Given the description of an element on the screen output the (x, y) to click on. 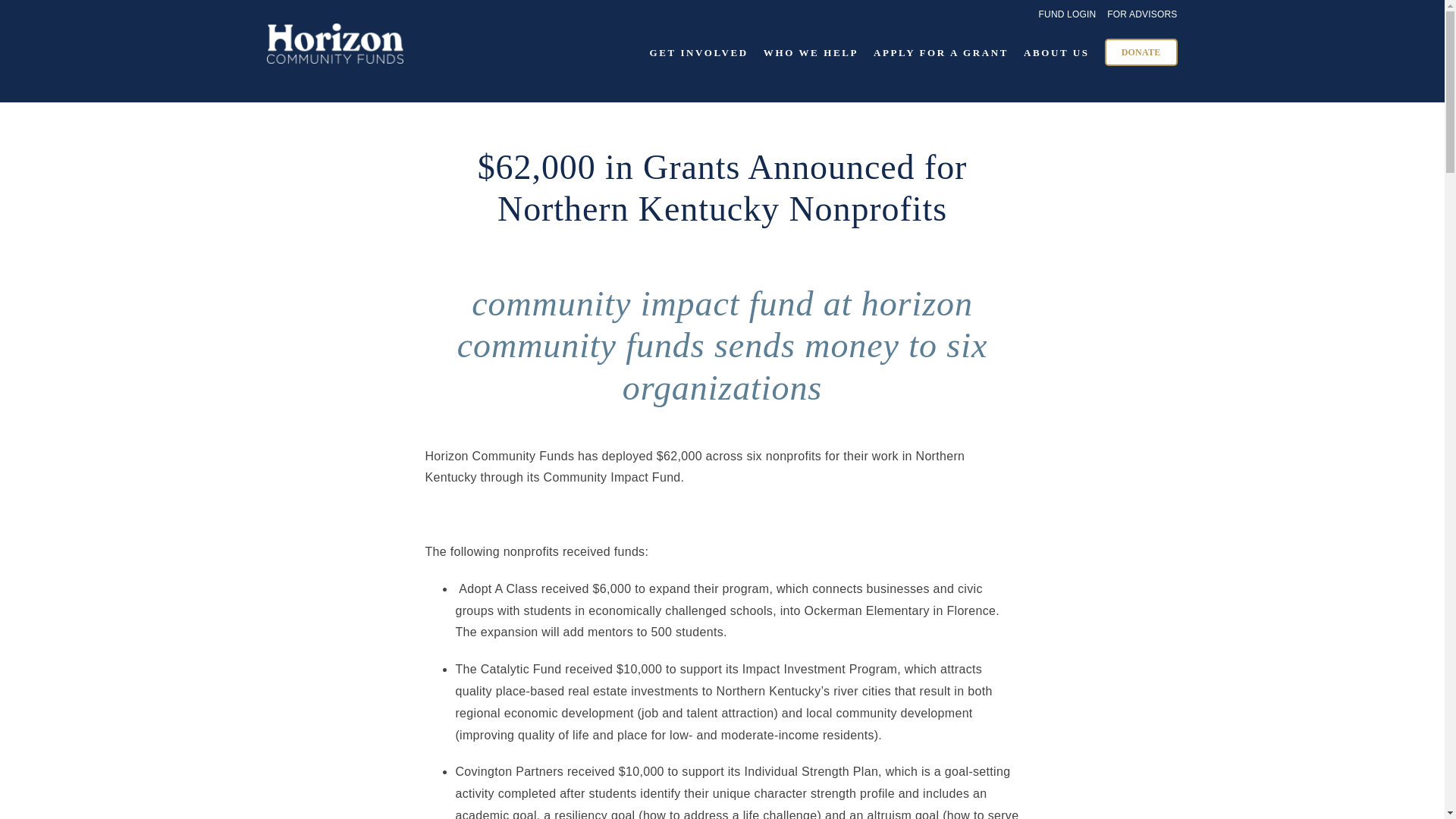
APPLY FOR A GRANT (941, 51)
DONATE (1141, 52)
ABOUT US (1056, 51)
FUND LOGIN (1067, 16)
WHO WE HELP (810, 51)
GET INVOLVED (698, 51)
FOR ADVISORS (1141, 16)
